Given the description of an element on the screen output the (x, y) to click on. 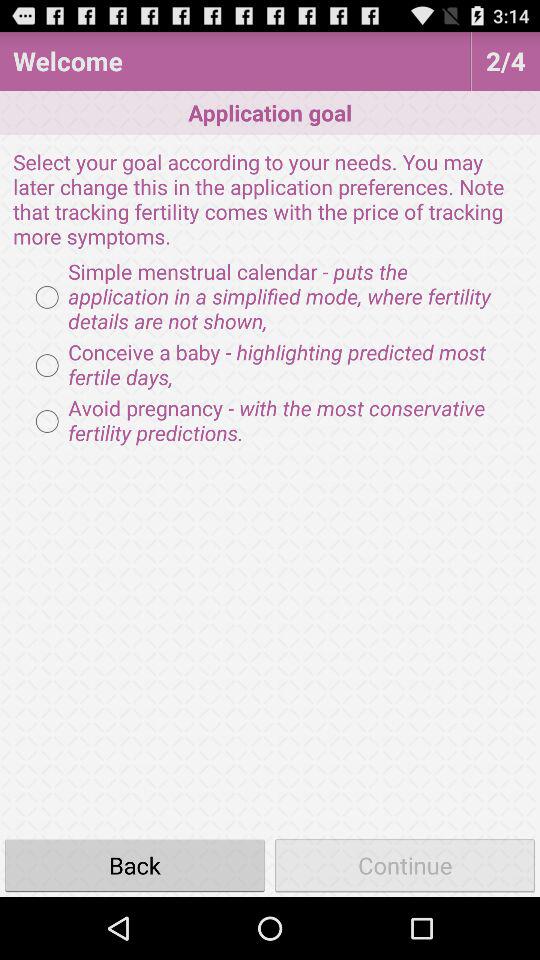
launch the avoid pregnancy with item (269, 421)
